Given the description of an element on the screen output the (x, y) to click on. 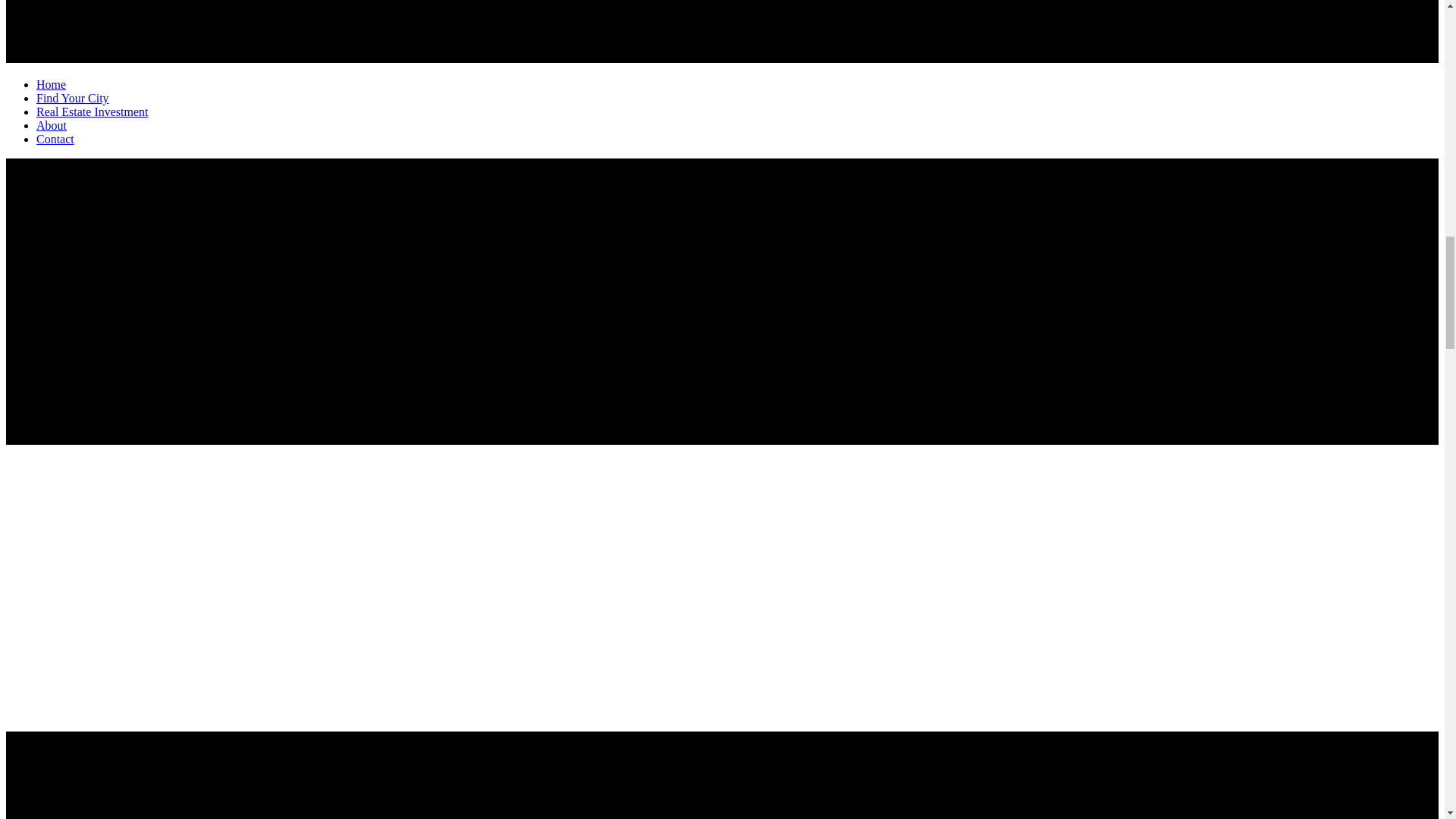
About (51, 125)
Contact (55, 139)
Real Estate Investment (92, 111)
Find Your City (72, 98)
Home (50, 84)
